Given the description of an element on the screen output the (x, y) to click on. 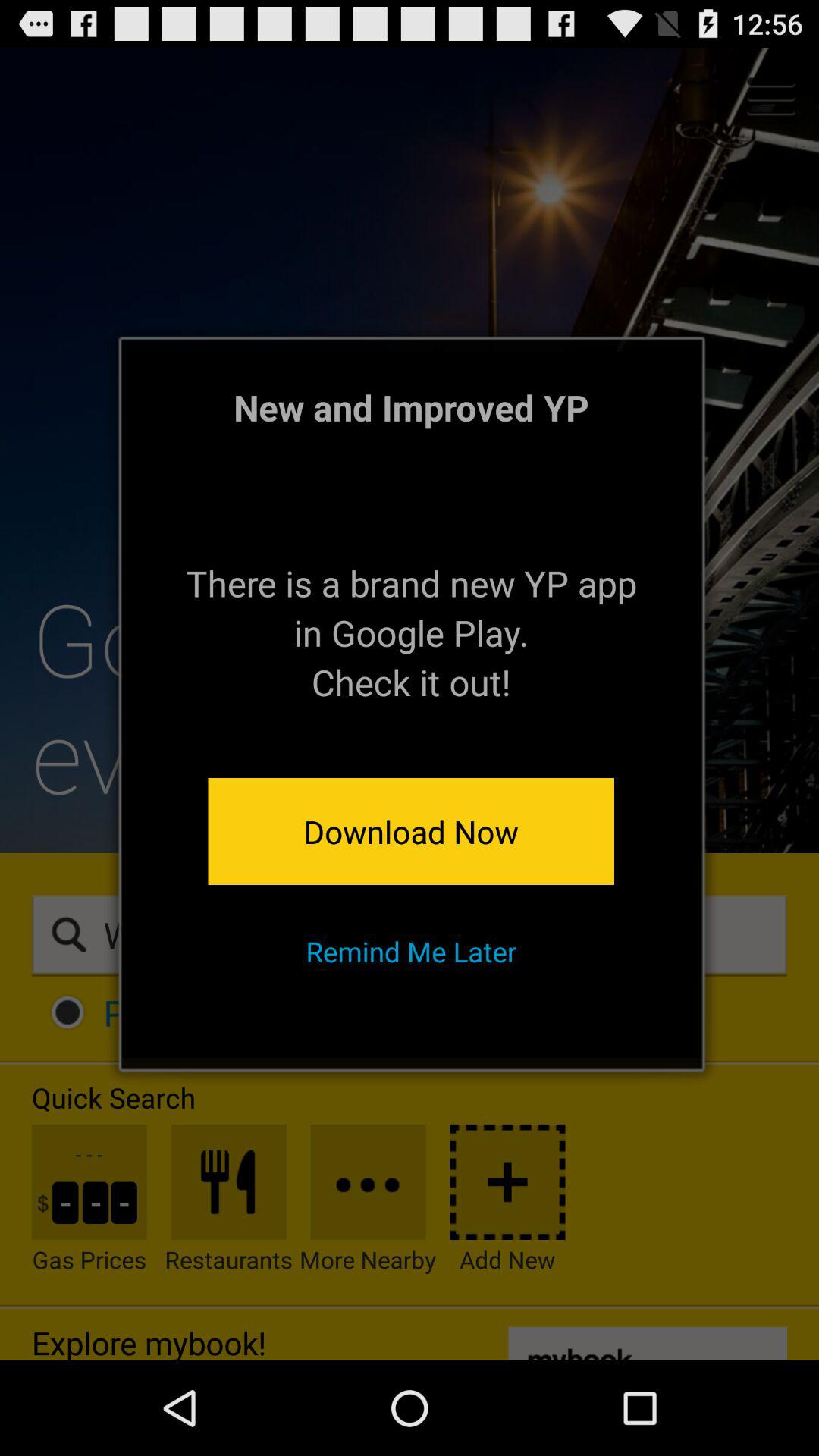
open app below the there is a (411, 831)
